Given the description of an element on the screen output the (x, y) to click on. 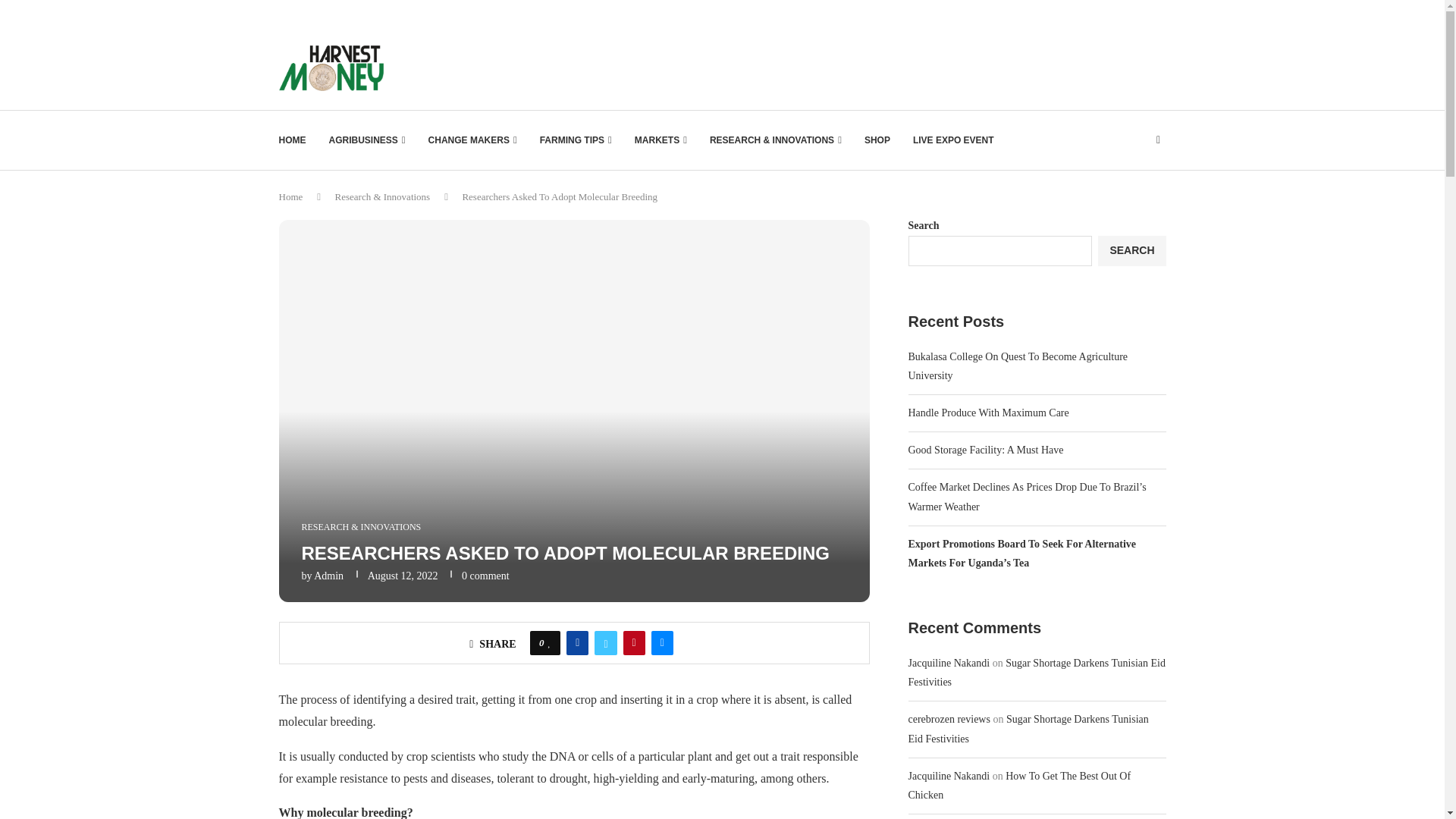
FARMING TIPS (575, 139)
MARKETS (660, 139)
LIVE EXPO EVENT (953, 139)
CHANGE MAKERS (472, 139)
AGRIBUSINESS (367, 139)
